Given the description of an element on the screen output the (x, y) to click on. 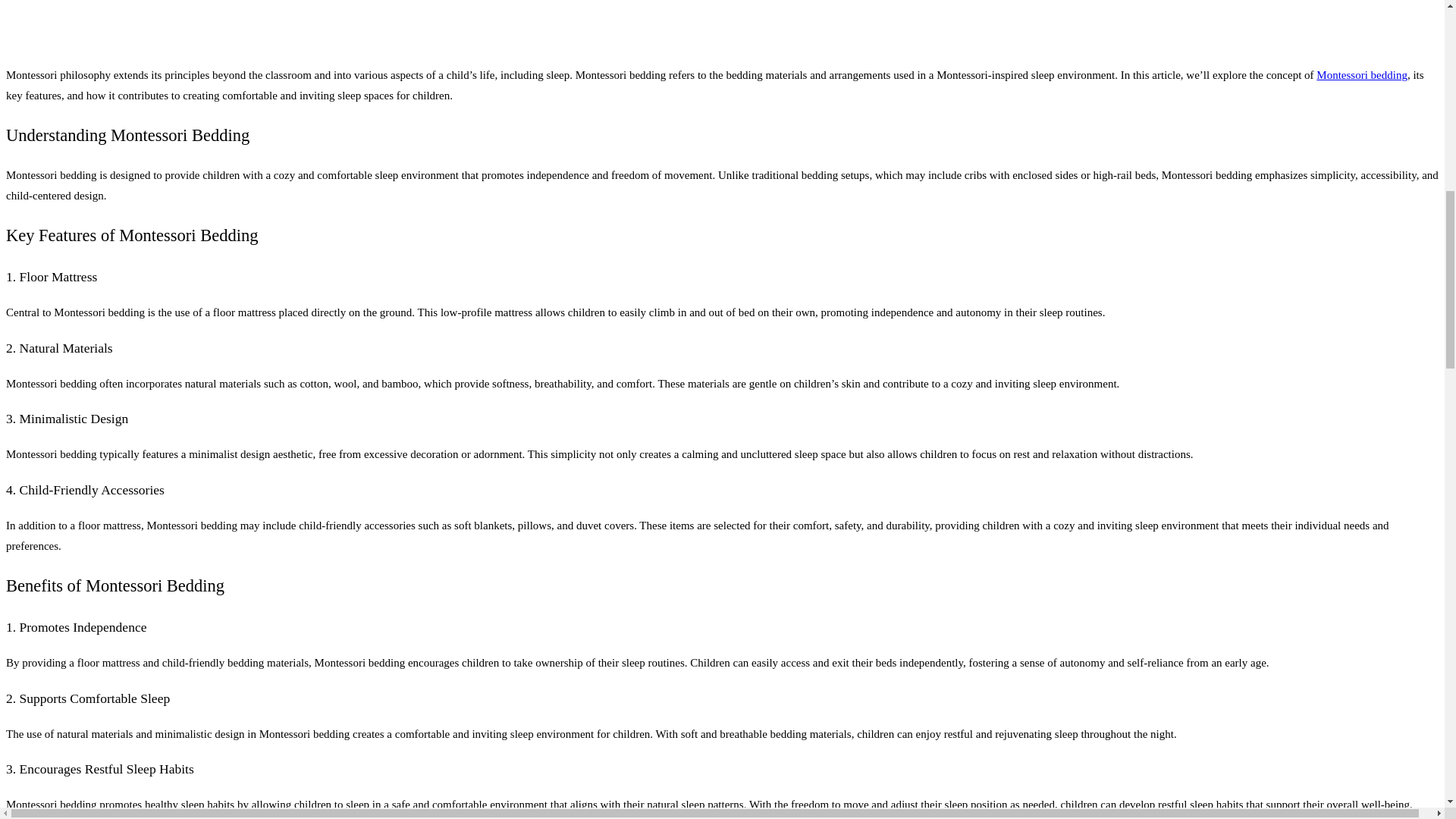
1e3d4497d0b0784f58ee3a03a60c9921 (721, 17)
